Given the description of an element on the screen output the (x, y) to click on. 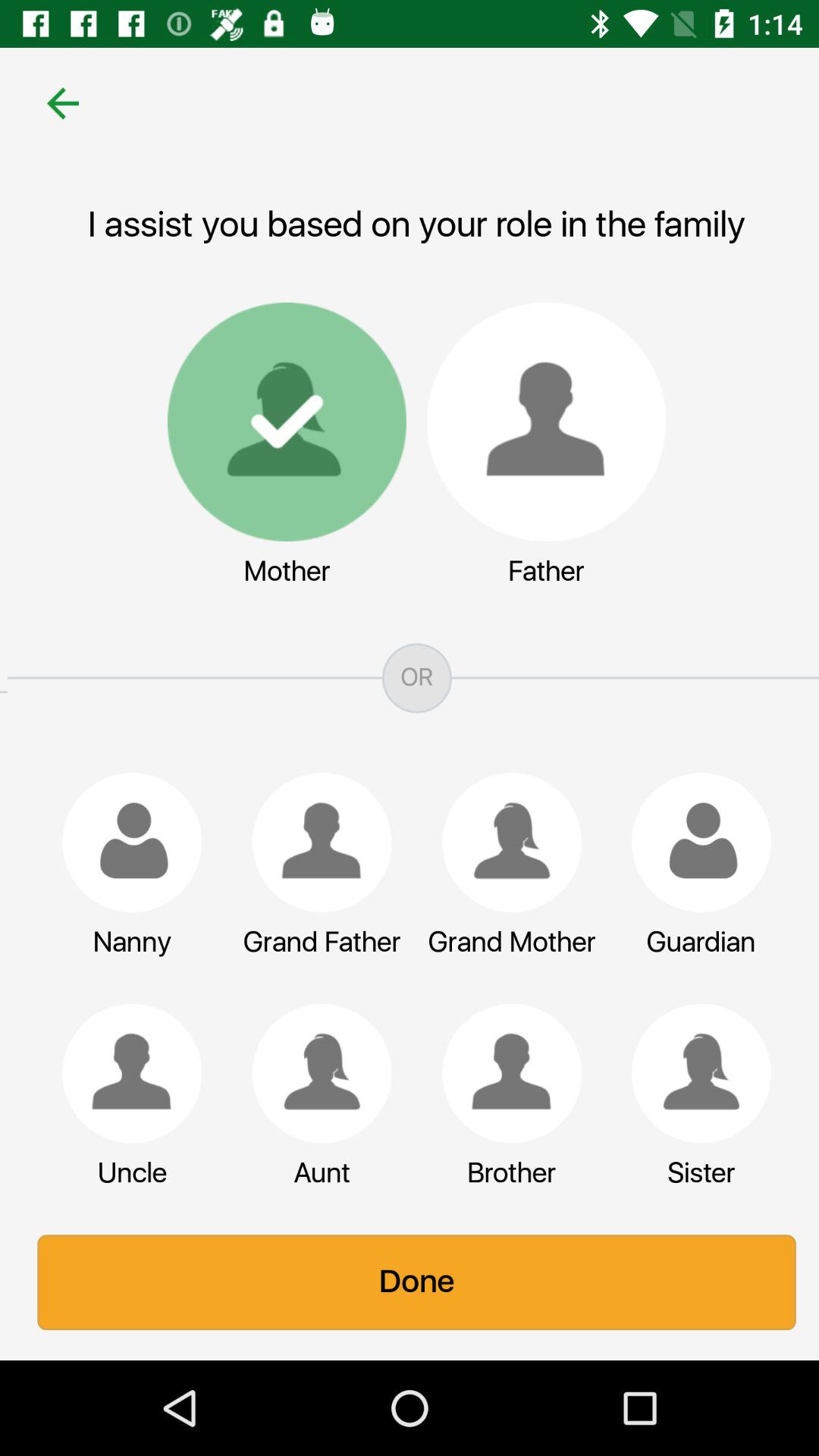
select icon below the uncle (409, 1282)
